Given the description of an element on the screen output the (x, y) to click on. 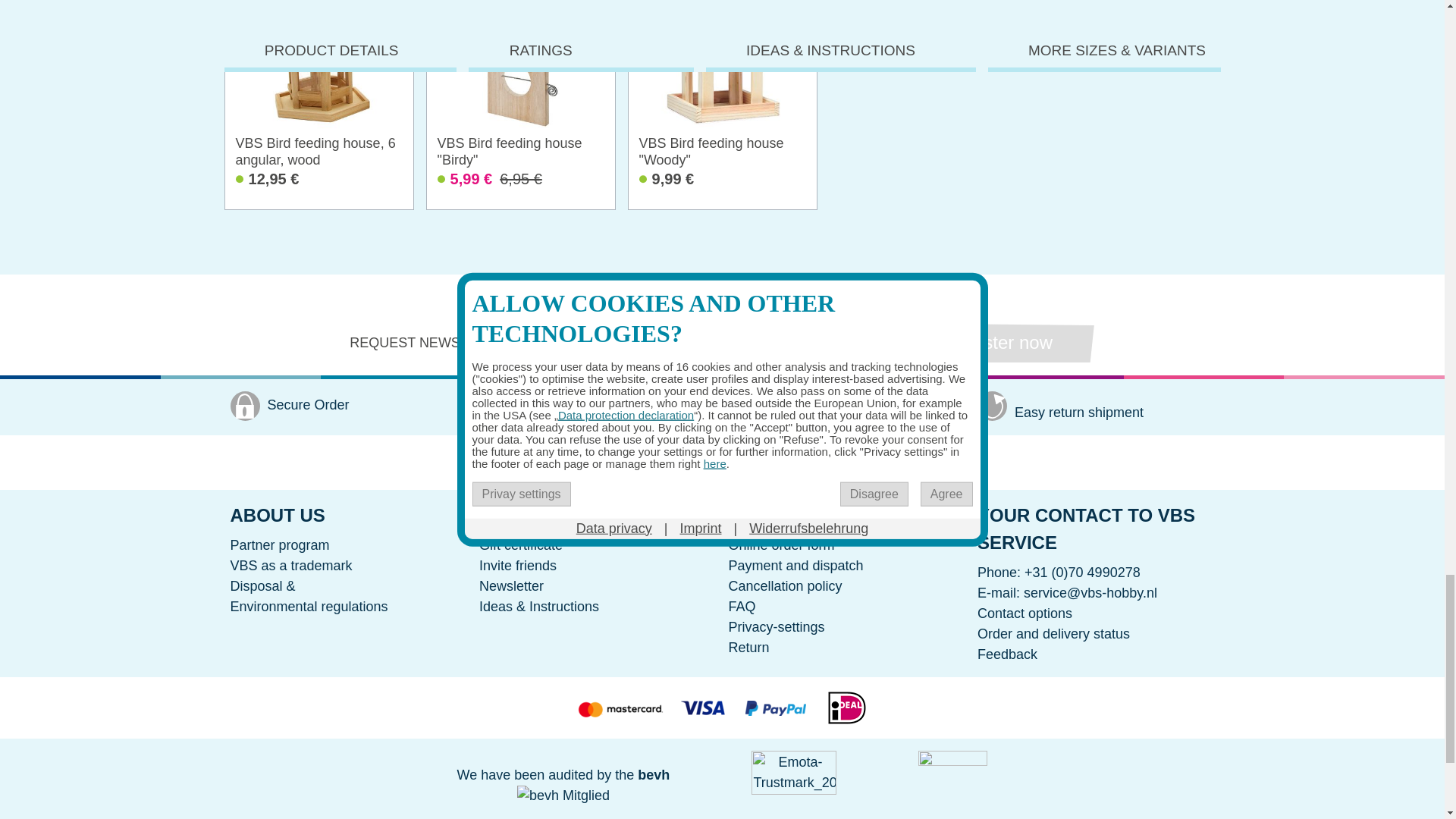
Available (520, 185)
VBS Bird feeding house "Birdy" (520, 84)
Available (318, 185)
VBS Bird feeding house, 6 angular, wood (318, 84)
